Given the description of an element on the screen output the (x, y) to click on. 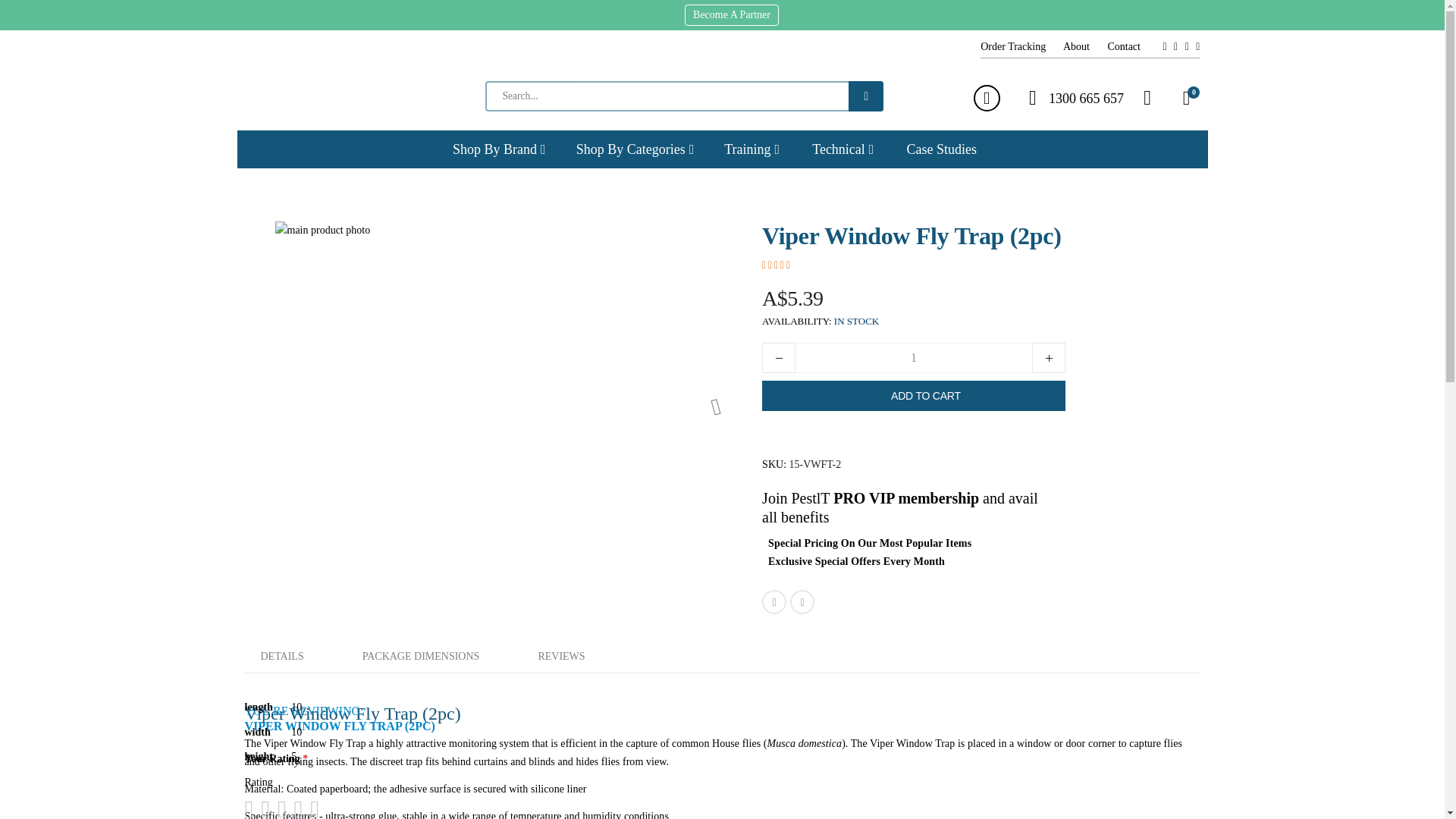
Wishlist (1185, 97)
Become A Partner (1148, 97)
About (731, 14)
23 (1083, 46)
Order Tracking (1131, 46)
1 (1020, 46)
Shop by Categories (913, 358)
Shop By Brand (635, 149)
